Given the description of an element on the screen output the (x, y) to click on. 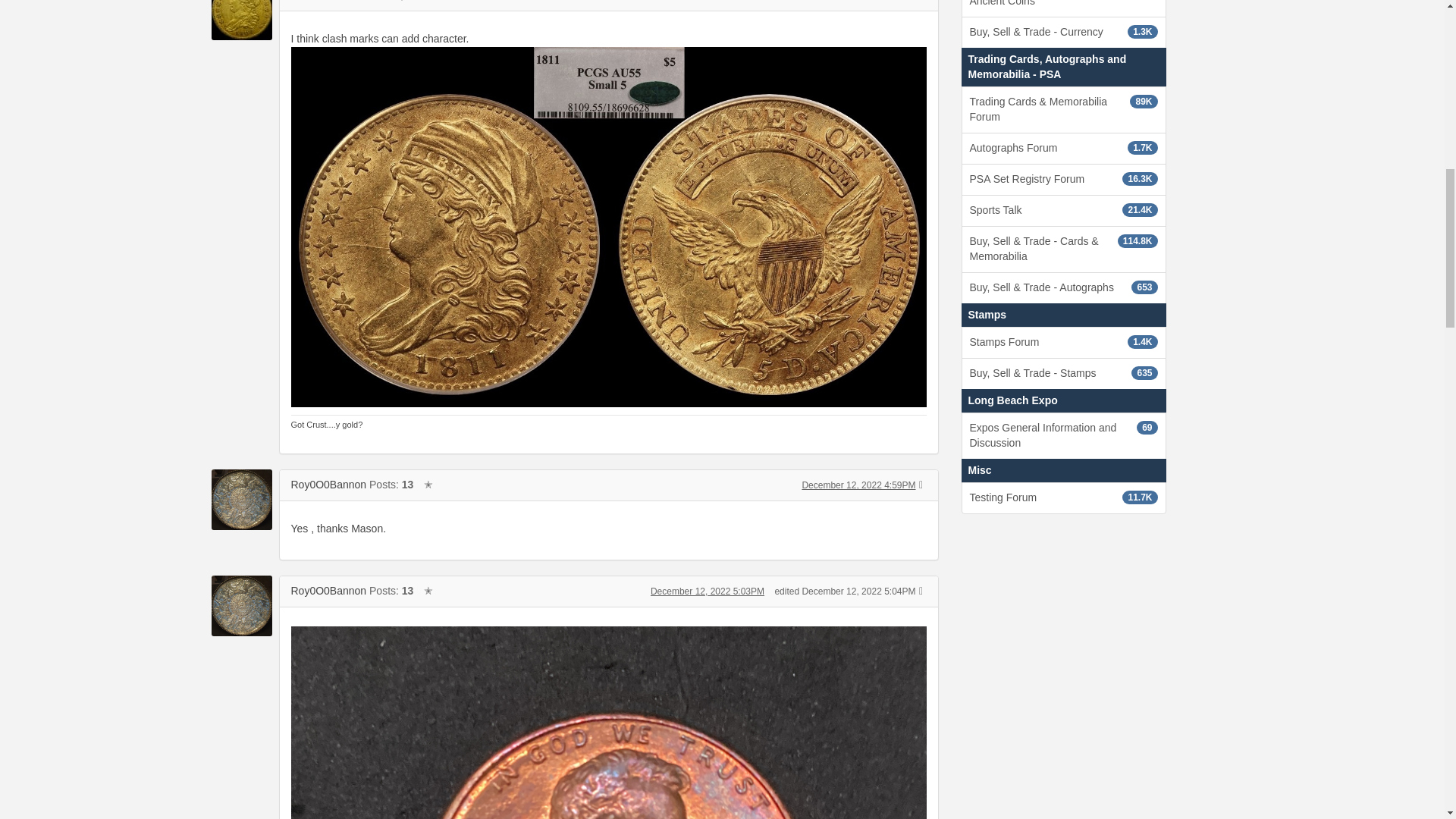
December 12, 2022 5:03PM (707, 591)
December 12, 2022 4:59PM (858, 484)
Roy0O0Bannon (328, 484)
Roy0O0Bannon (328, 590)
CharlotteDude (325, 0)
